Given the description of an element on the screen output the (x, y) to click on. 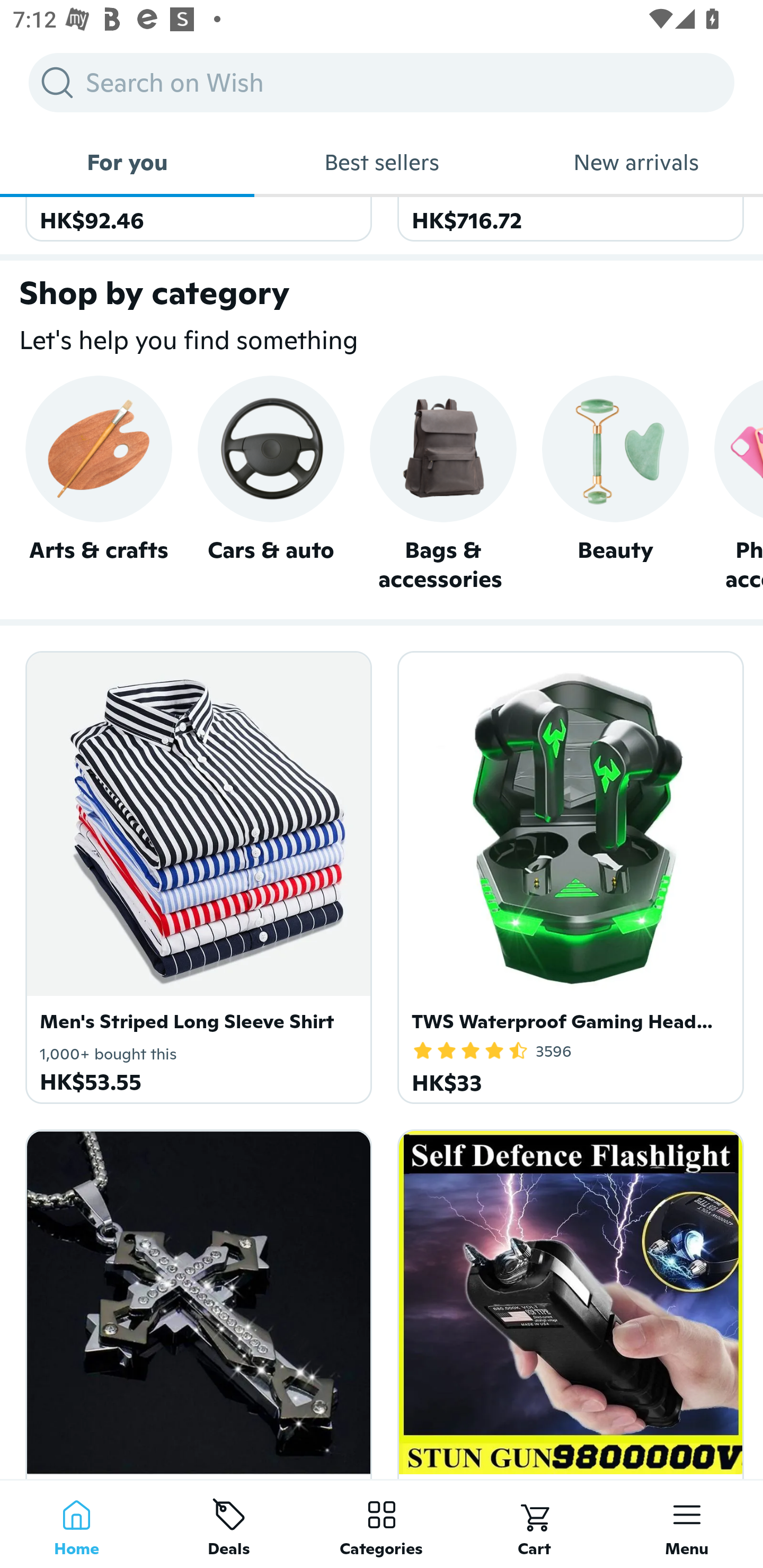
Search on Wish (381, 82)
For you (127, 161)
Best sellers (381, 161)
New arrivals (635, 161)
4.1 Star Rating 11 HK$92.46 (195, 219)
4.3 Star Rating 5396 HK$716.72 (566, 219)
Arts & crafts (98, 485)
Cars & auto (270, 485)
Bags & accessories  (443, 484)
Beauty (614, 485)
Home (76, 1523)
Deals (228, 1523)
Categories (381, 1523)
Cart (533, 1523)
Menu (686, 1523)
